Given the description of an element on the screen output the (x, y) to click on. 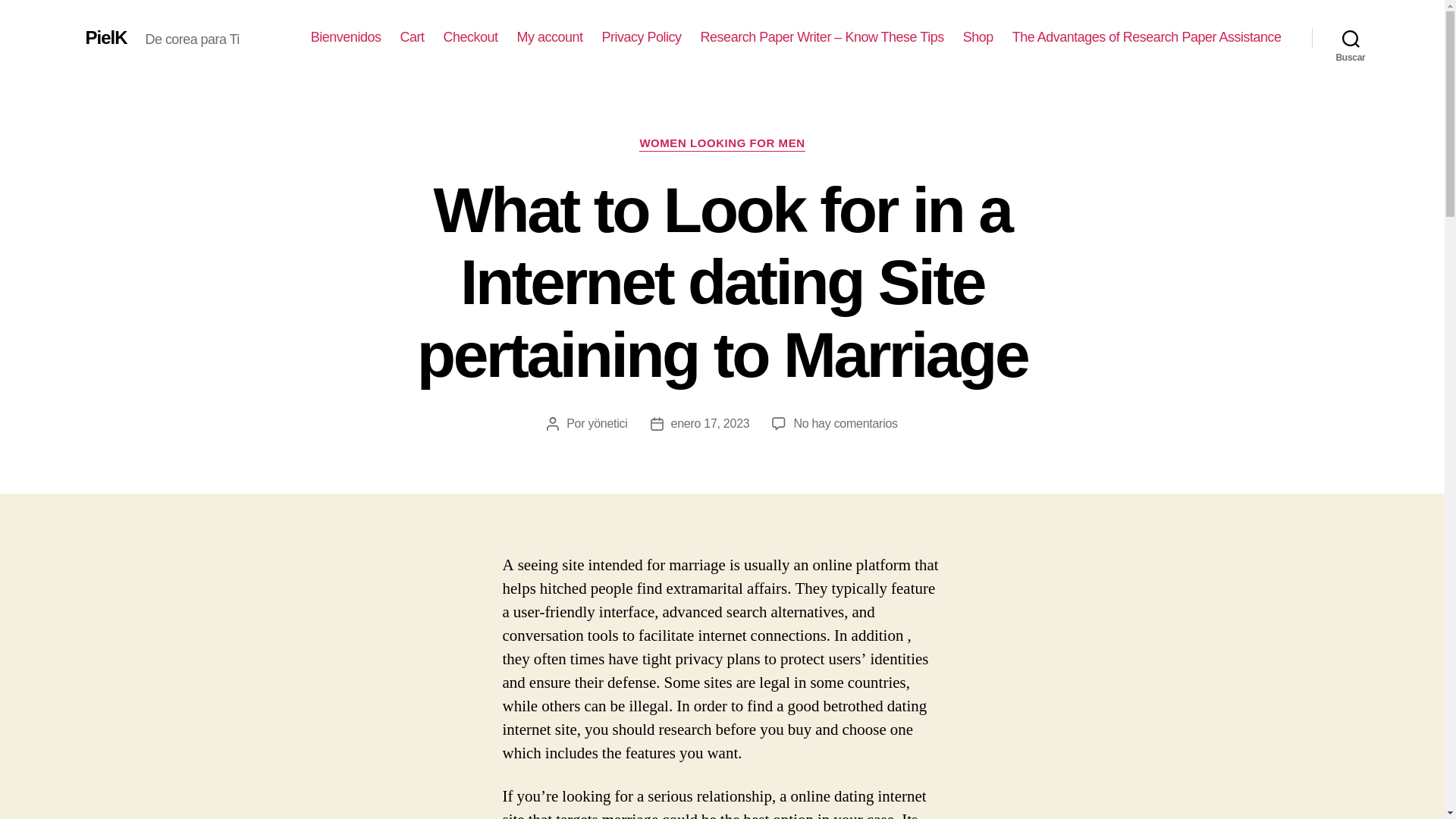
PielK (105, 37)
The Advantages of Research Paper Assistance (1146, 37)
enero 17, 2023 (710, 422)
Bienvenidos (346, 37)
Cart (410, 37)
Checkout (469, 37)
Privacy Policy (641, 37)
My account (549, 37)
Buscar (1350, 37)
